Given the description of an element on the screen output the (x, y) to click on. 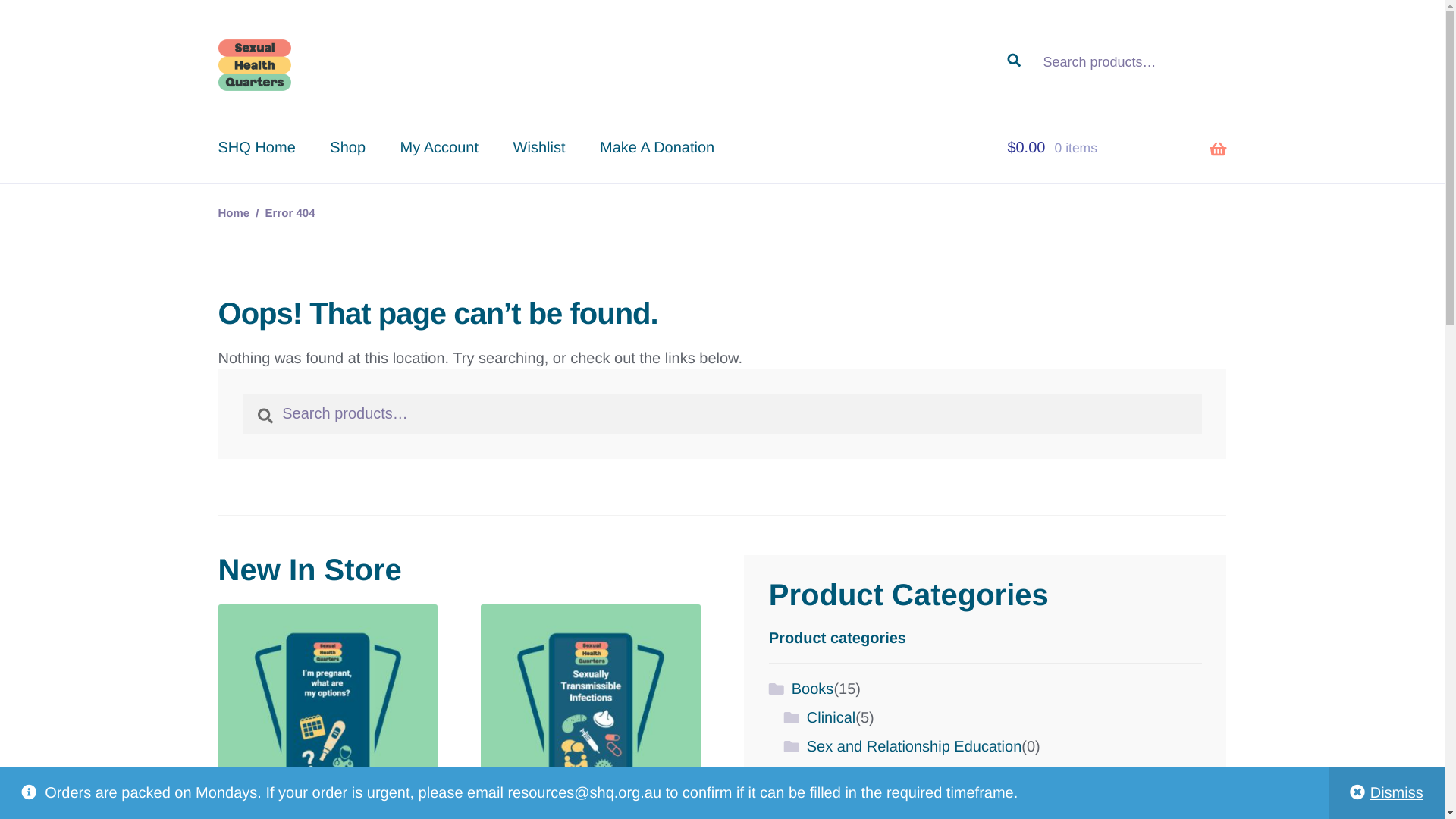
Search Element type: text (1006, 38)
Wishlist Element type: text (539, 147)
My Account Element type: text (439, 147)
Shop Element type: text (347, 147)
Sex and Relationship Education Element type: text (914, 746)
Young People Element type: text (853, 776)
Books Element type: text (812, 688)
Brochures and Information Sheets Element type: text (906, 804)
Home Element type: text (234, 213)
Search Element type: text (241, 392)
SHQ Home Element type: text (256, 147)
Clinical Element type: text (830, 717)
Skip to navigation Element type: text (217, 38)
Make A Donation Element type: text (656, 147)
$0.00 0 items Element type: text (1116, 147)
